Given the description of an element on the screen output the (x, y) to click on. 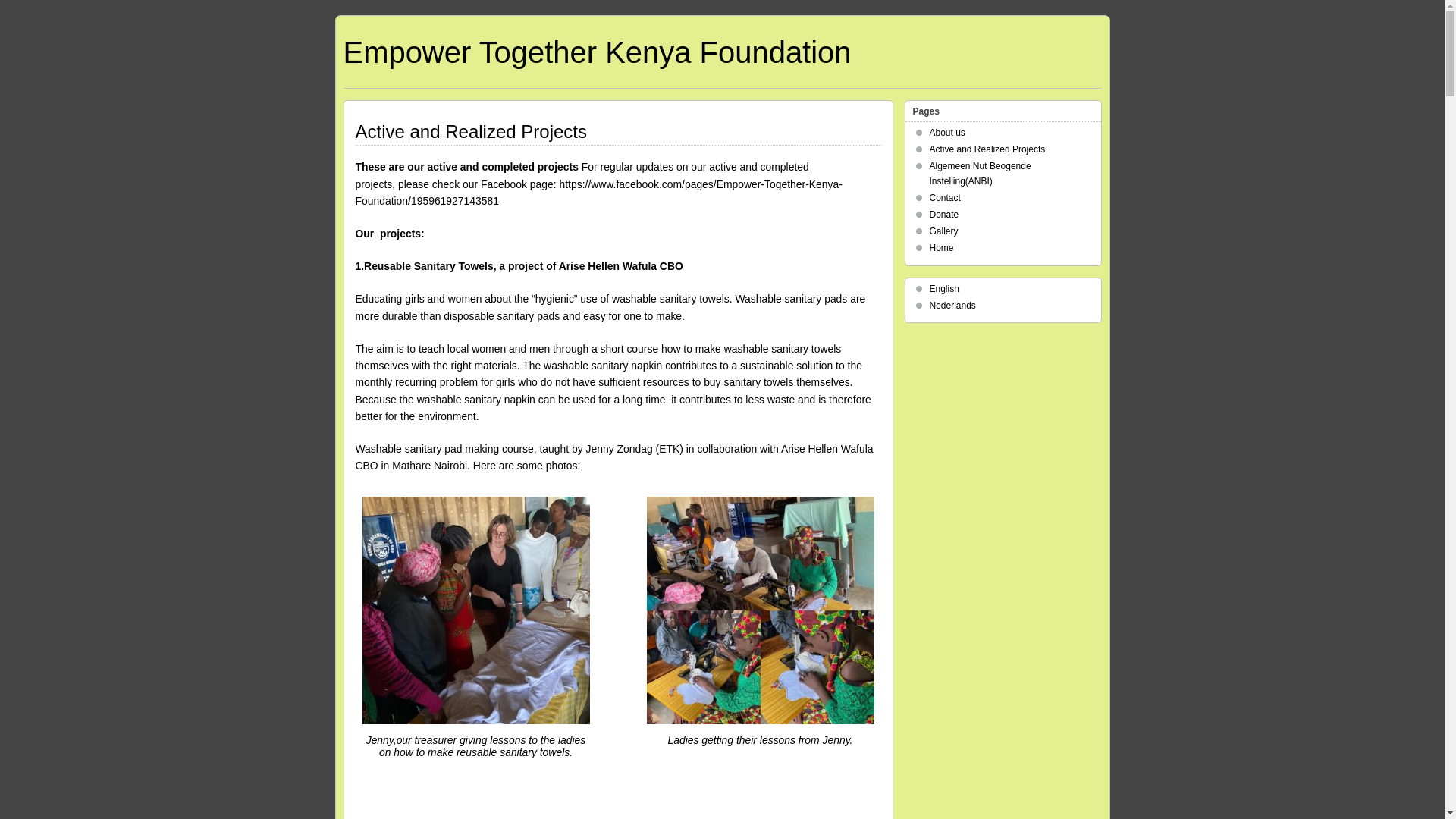
Empower Together Kenya Foundation (596, 52)
